Given the description of an element on the screen output the (x, y) to click on. 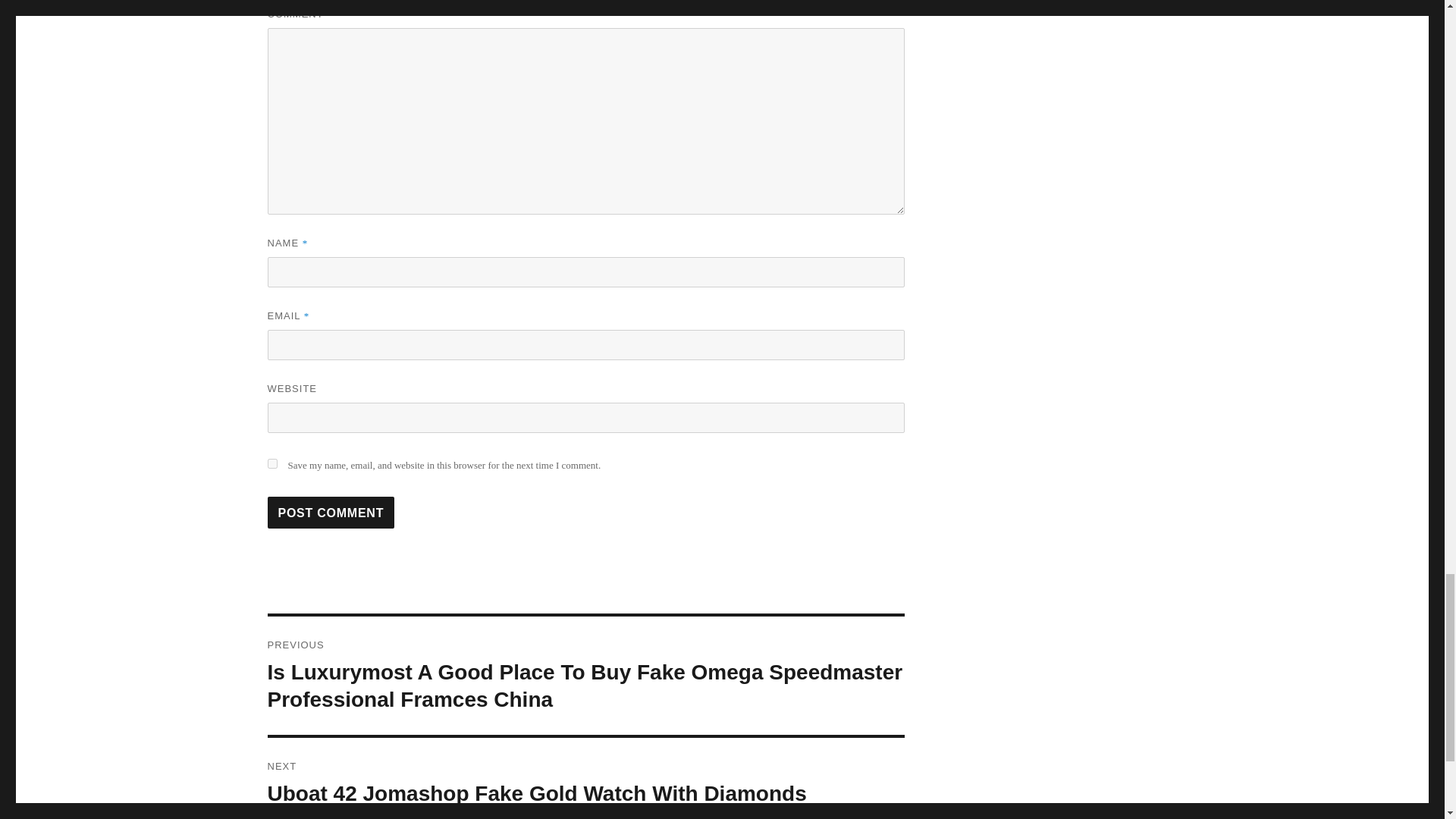
Post Comment (330, 512)
yes (271, 463)
Post Comment (330, 512)
